Given the description of an element on the screen output the (x, y) to click on. 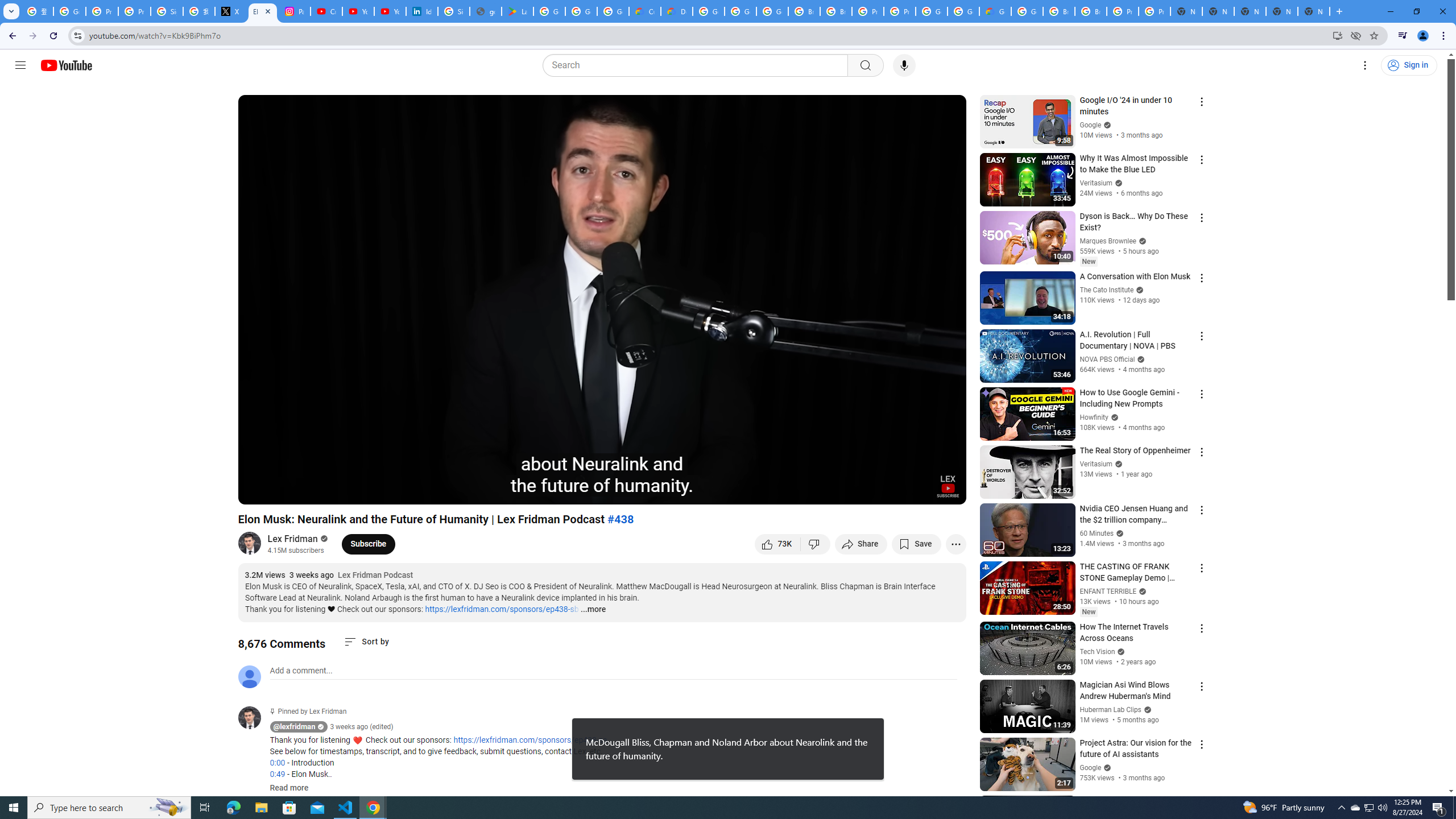
Default profile photo (248, 676)
Read more (288, 787)
New Tab (1313, 11)
Privacy Help Center - Policies Help (101, 11)
Play (k) (257, 490)
Dislike this video (815, 543)
https://lexfridman.com/sponsors/ep438-sb (502, 609)
https://lexfridman.com/sponsors/ep438-sa (529, 740)
